Given the description of an element on the screen output the (x, y) to click on. 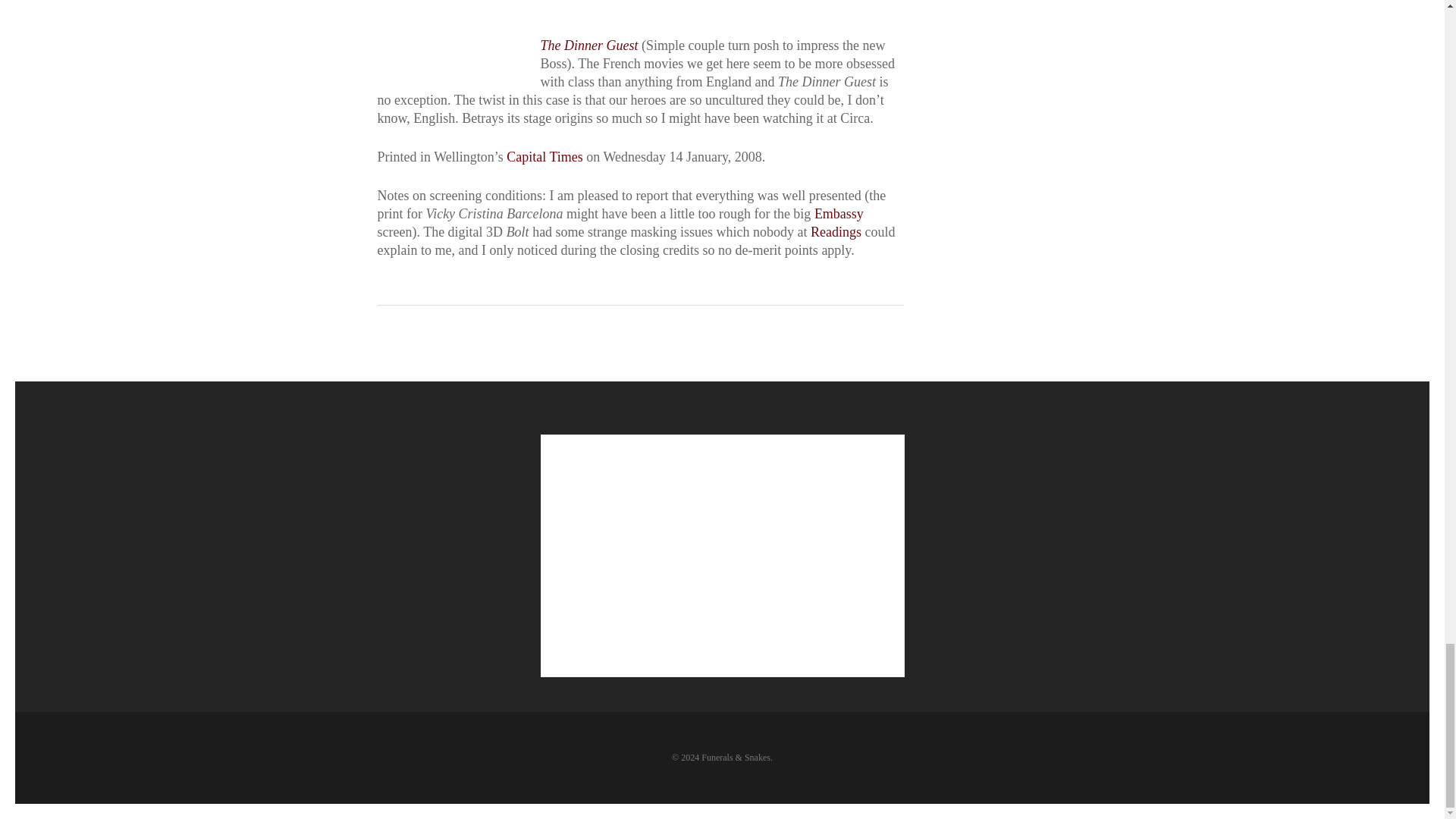
Embassy (838, 213)
Capital Times (544, 156)
The Dinner Guest (588, 45)
Embassy Theatre (838, 213)
Readings Courtenay Central (835, 231)
Capital Times, Wellington (544, 156)
Readings (835, 231)
